Given the description of an element on the screen output the (x, y) to click on. 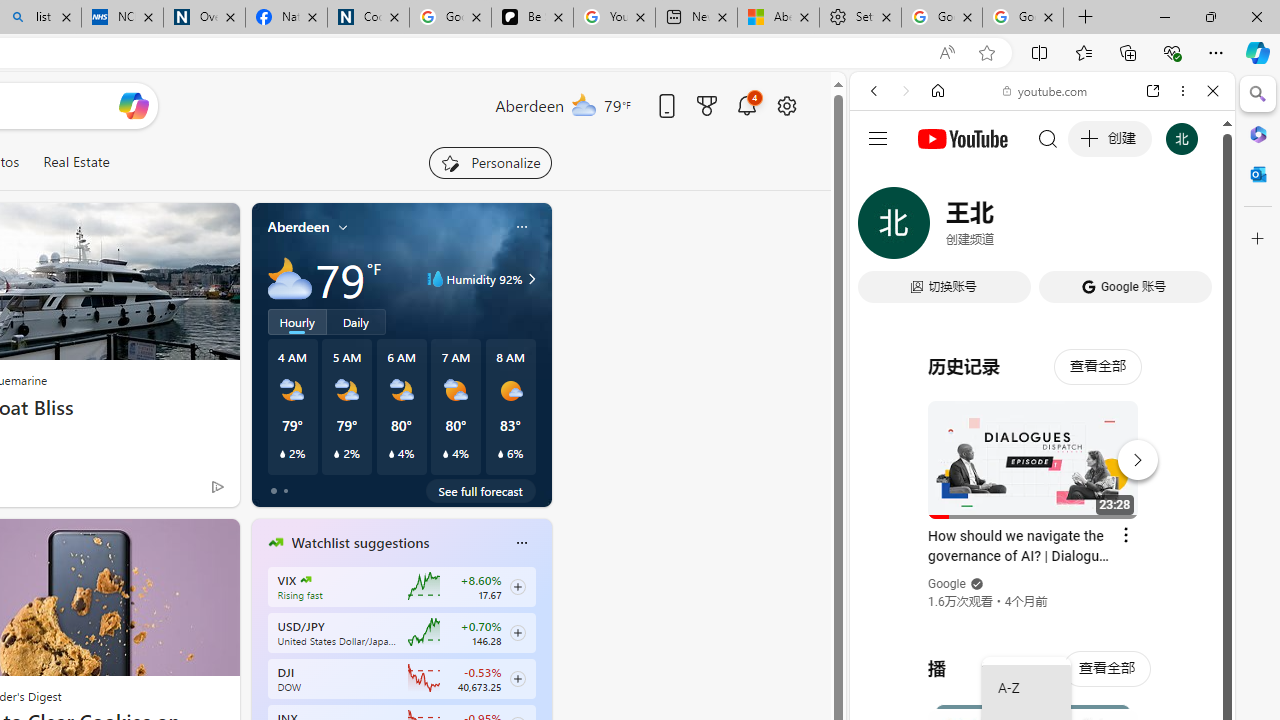
CBOE Market Volatility Index (306, 579)
tab-0 (273, 490)
#you (1042, 445)
